Given the description of an element on the screen output the (x, y) to click on. 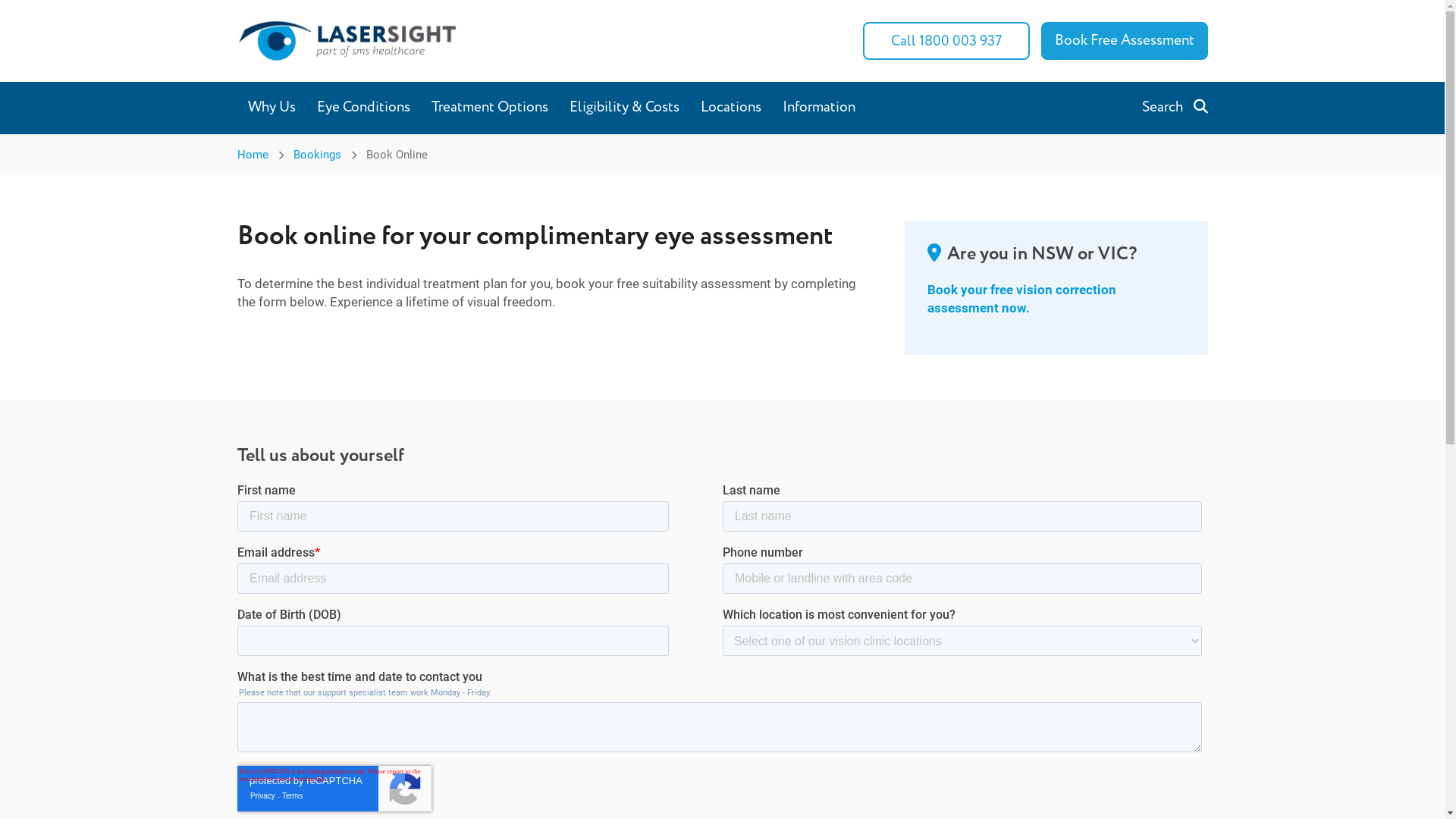
Eye Conditions Element type: text (363, 107)
Locations Element type: text (730, 107)
Bookings Element type: text (316, 153)
Information Element type: text (818, 107)
Book your free vision correction assessment now. Element type: text (1020, 298)
Treatment Options Element type: text (489, 107)
Search Element type: text (1175, 108)
Call 1800 003 937 Element type: text (945, 40)
Book Free Assessment Element type: text (1123, 40)
Eligibility & Costs Element type: text (623, 107)
Home Element type: text (251, 153)
Why Us Element type: text (270, 107)
